Given the description of an element on the screen output the (x, y) to click on. 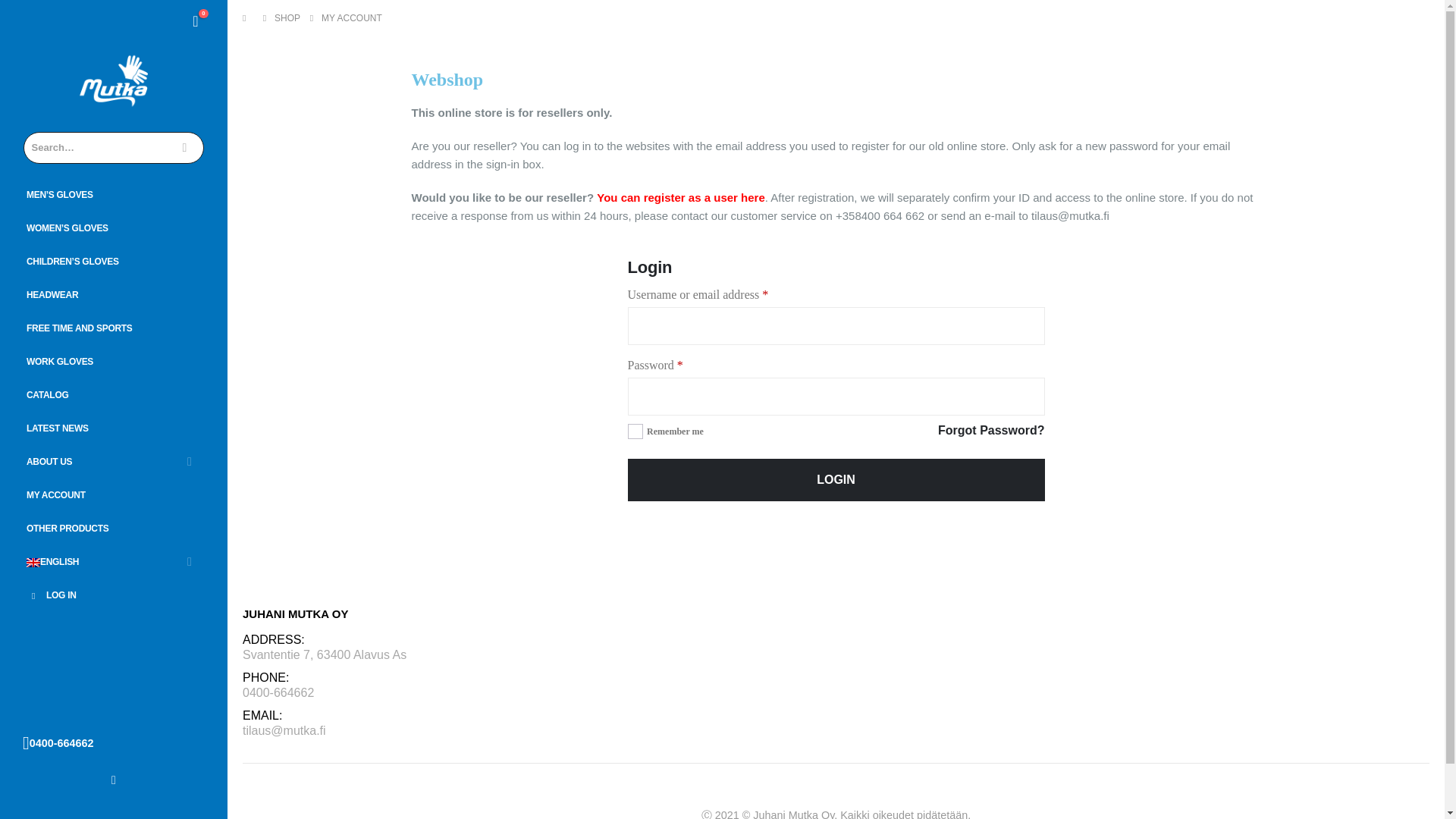
LOGIN (836, 479)
LATEST NEWS (114, 428)
Forgot Password? (990, 430)
WORK GLOVES (114, 361)
ABOUT US (114, 461)
LOG IN (114, 595)
ENGLISH (114, 562)
FREE TIME AND SPORTS (114, 328)
SHOP (287, 18)
MY ACCOUNT (114, 495)
